Given the description of an element on the screen output the (x, y) to click on. 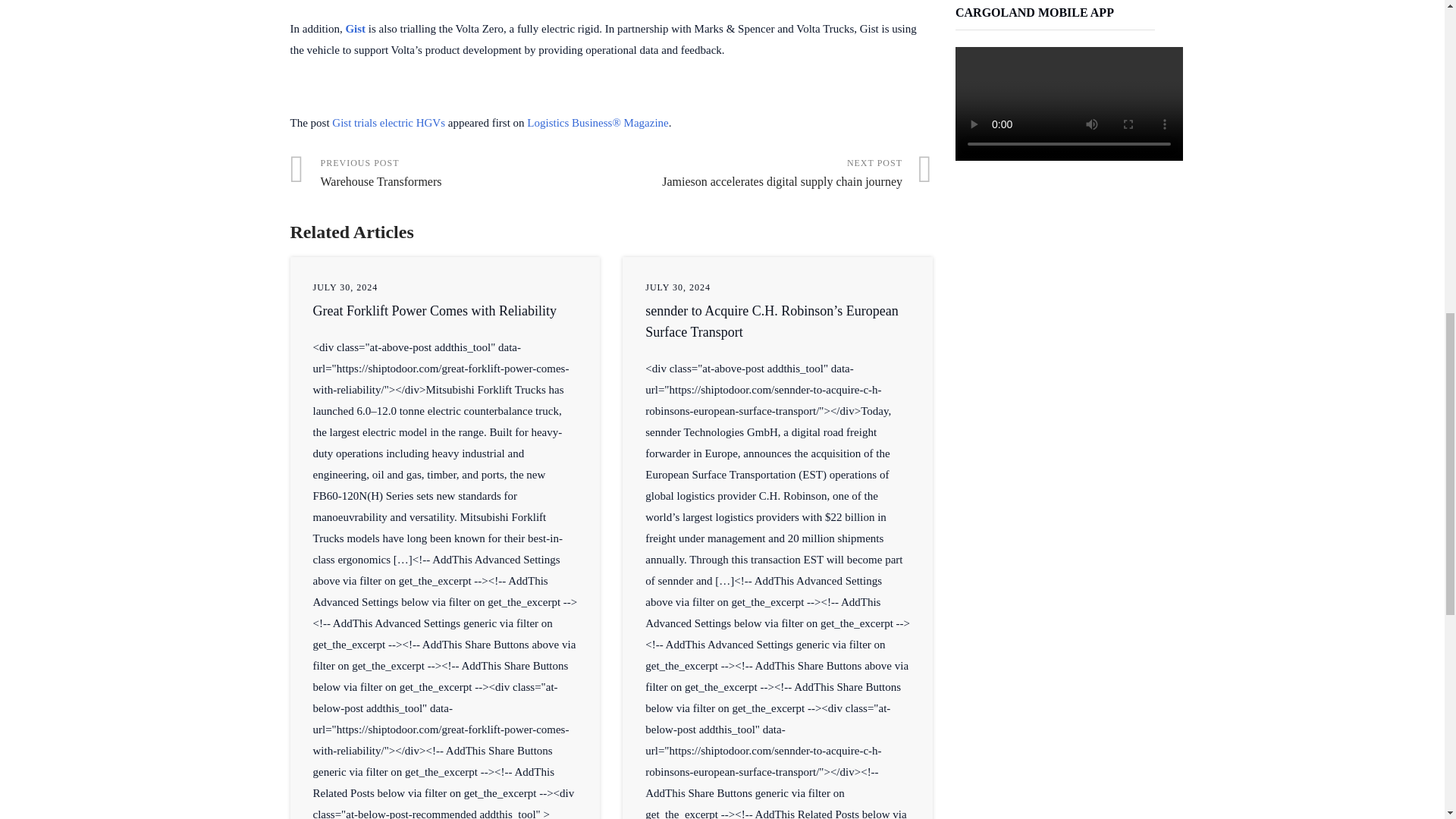
Warehouse Transformers (450, 173)
Great Forklift Power Comes with Reliability (434, 310)
Great Forklift Power Comes with Reliability (450, 173)
Gist (434, 310)
Gist trials electric HGVs (355, 28)
Jamieson accelerates digital supply chain journey (388, 122)
